Given the description of an element on the screen output the (x, y) to click on. 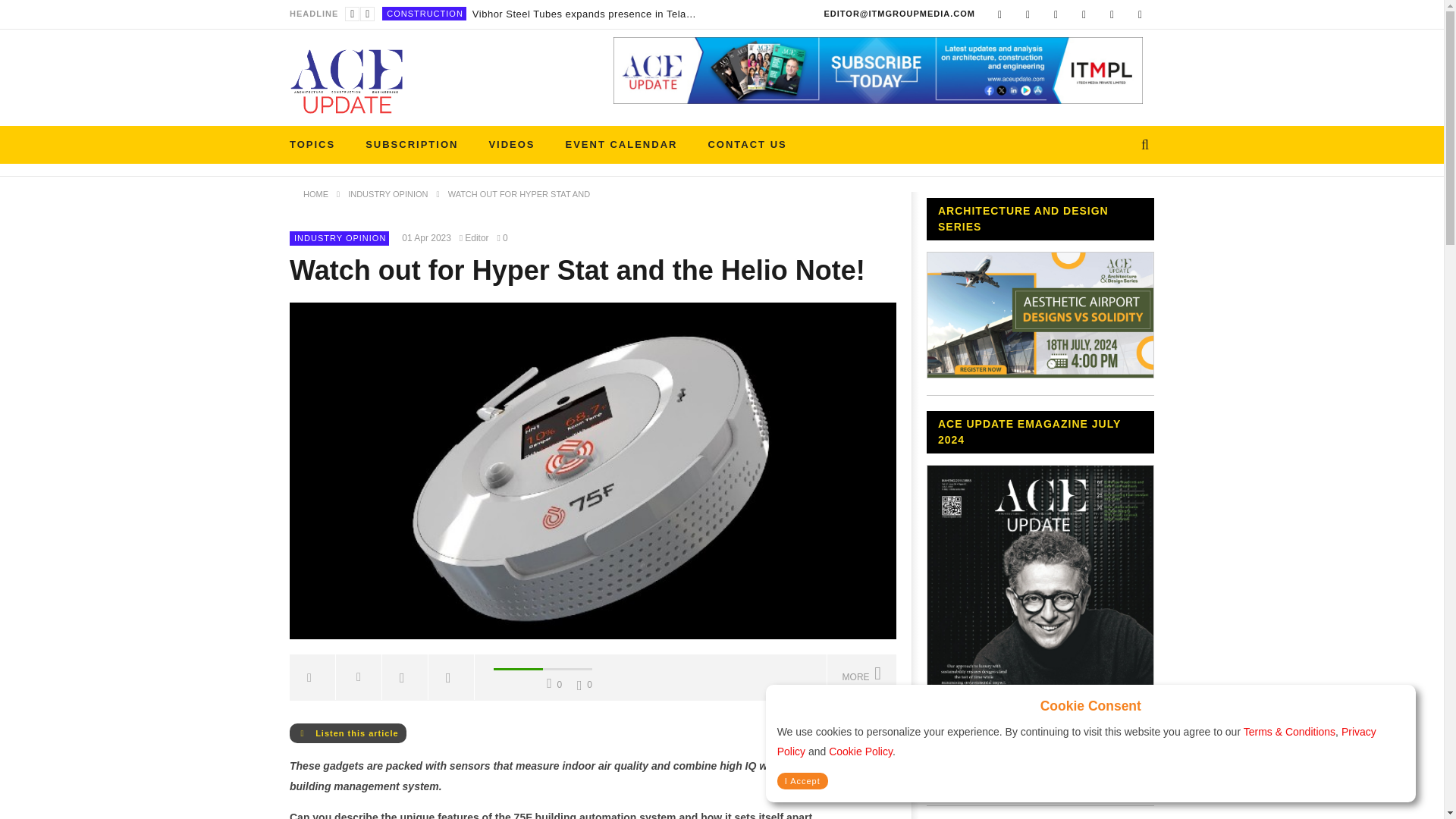
Vibhor Steel Tubes expands presence in Telangana (585, 13)
TOPICS (312, 144)
CONSTRUCTION (425, 13)
